Given the description of an element on the screen output the (x, y) to click on. 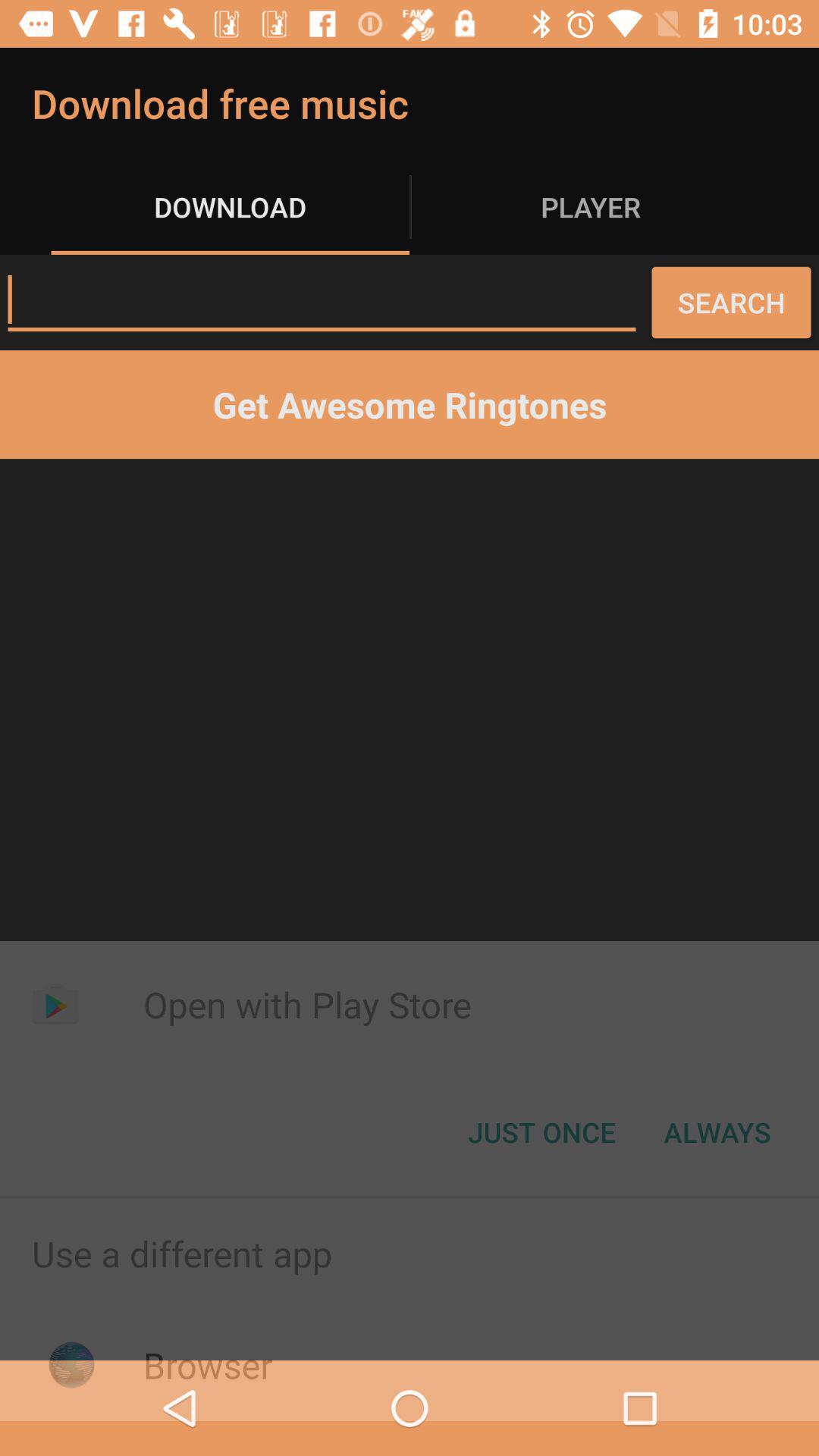
enter text (321, 300)
